Given the description of an element on the screen output the (x, y) to click on. 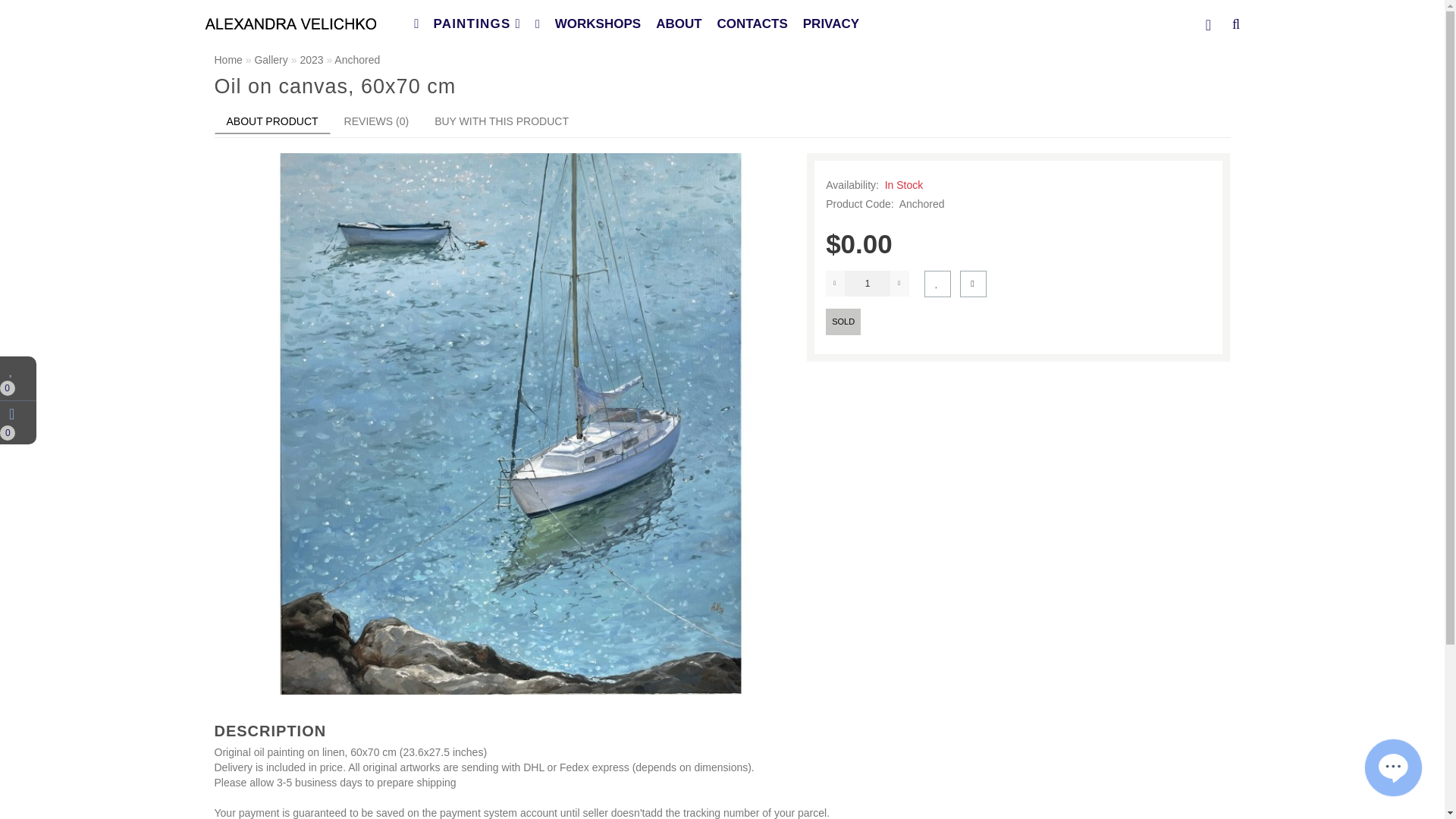
Gallery (269, 60)
Alexandra Velichko ART (291, 23)
   PAINTINGS (465, 23)
2023 (311, 60)
Anchored (357, 60)
1 (866, 283)
Home Gallery 2023 Anchored (722, 60)
